Given the description of an element on the screen output the (x, y) to click on. 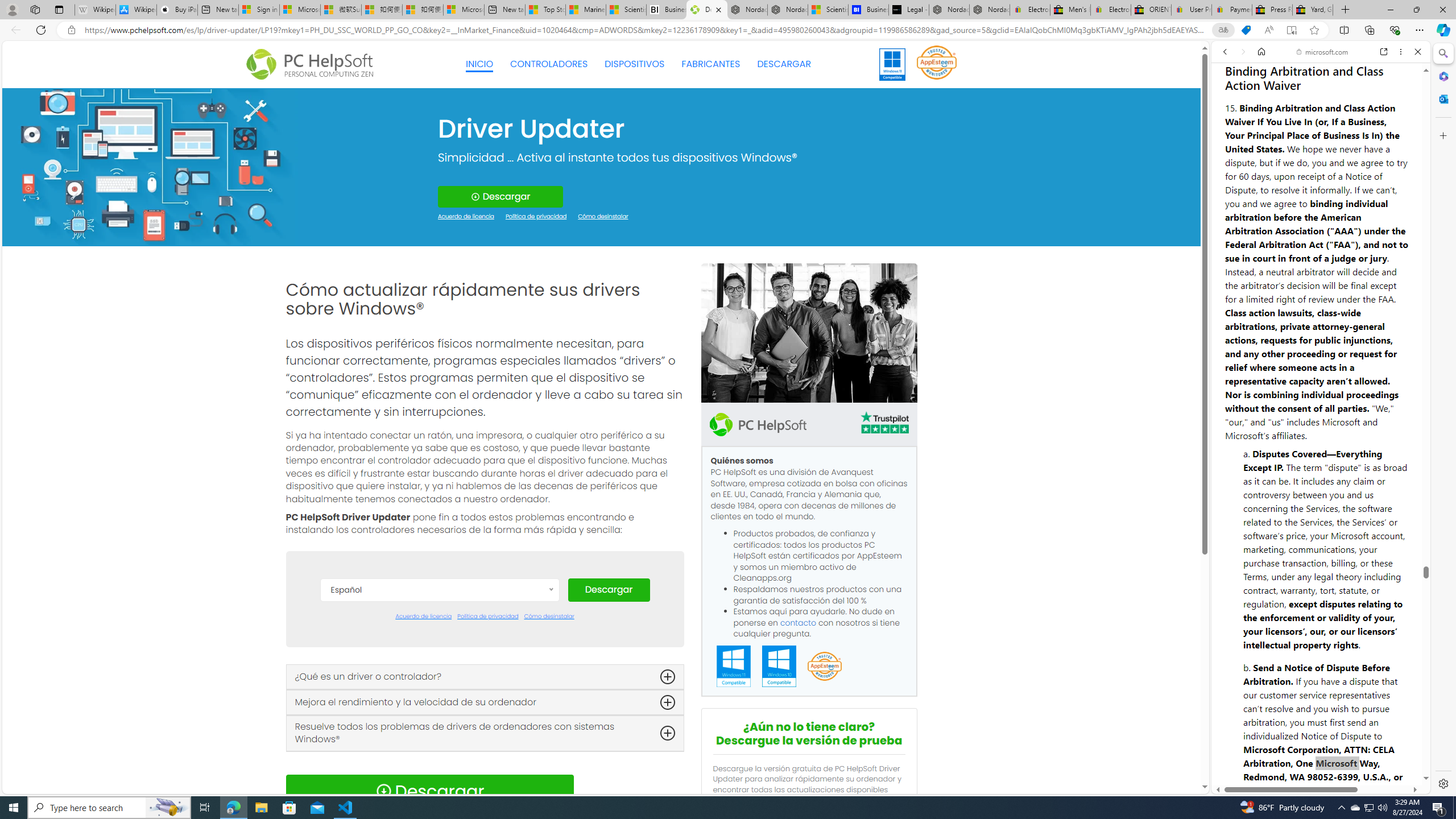
Logo Personal Computing (313, 64)
Dansk (439, 643)
Windows 11 Compatible (733, 666)
Italiano (439, 746)
INICIO (479, 64)
Nederlands (439, 763)
